Given the description of an element on the screen output the (x, y) to click on. 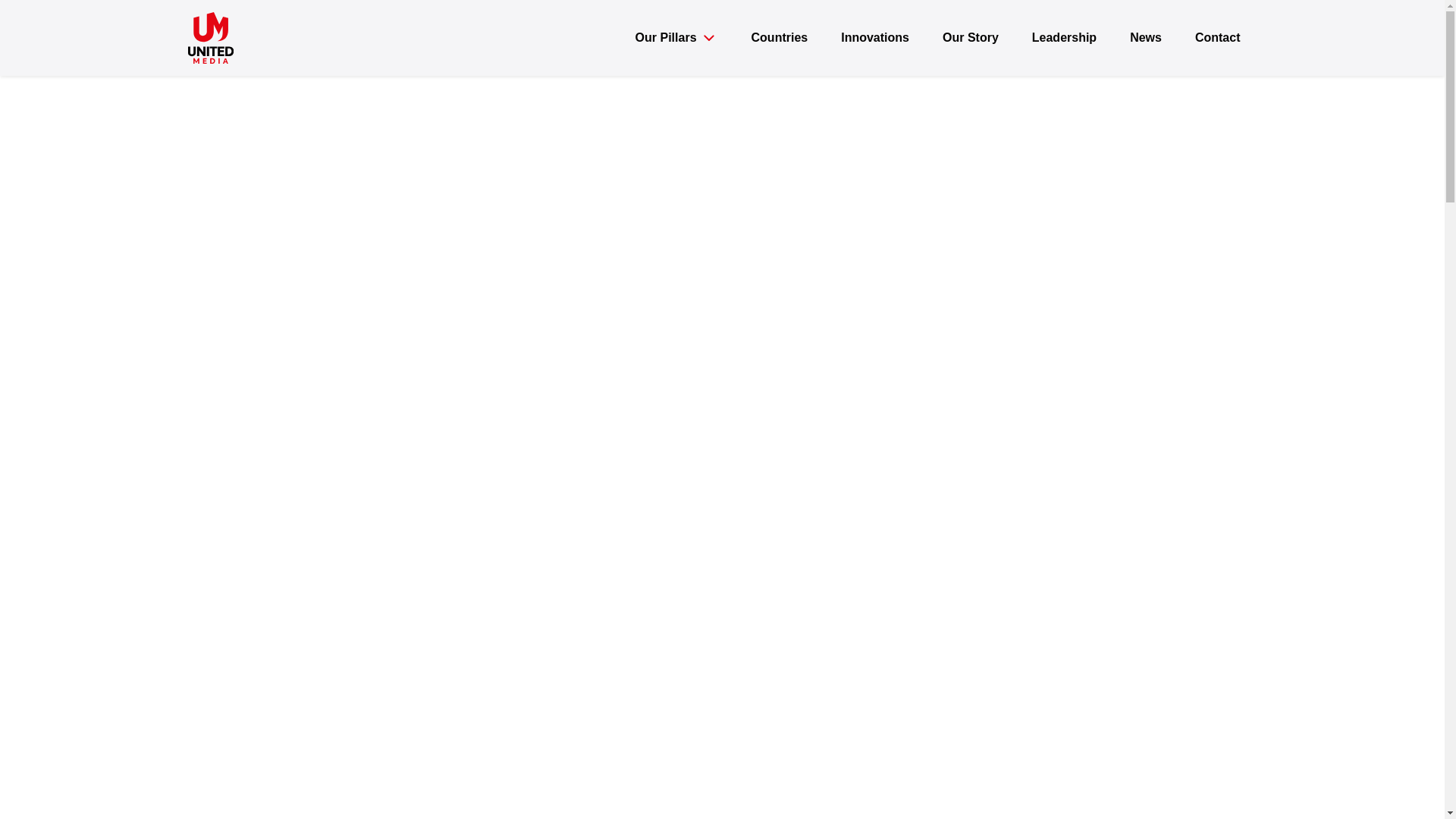
Innovations (875, 38)
Leadership (1063, 38)
News (1145, 38)
Our Pillars (676, 38)
Countries (780, 38)
Our Story (970, 38)
Contact (1217, 38)
